Given the description of an element on the screen output the (x, y) to click on. 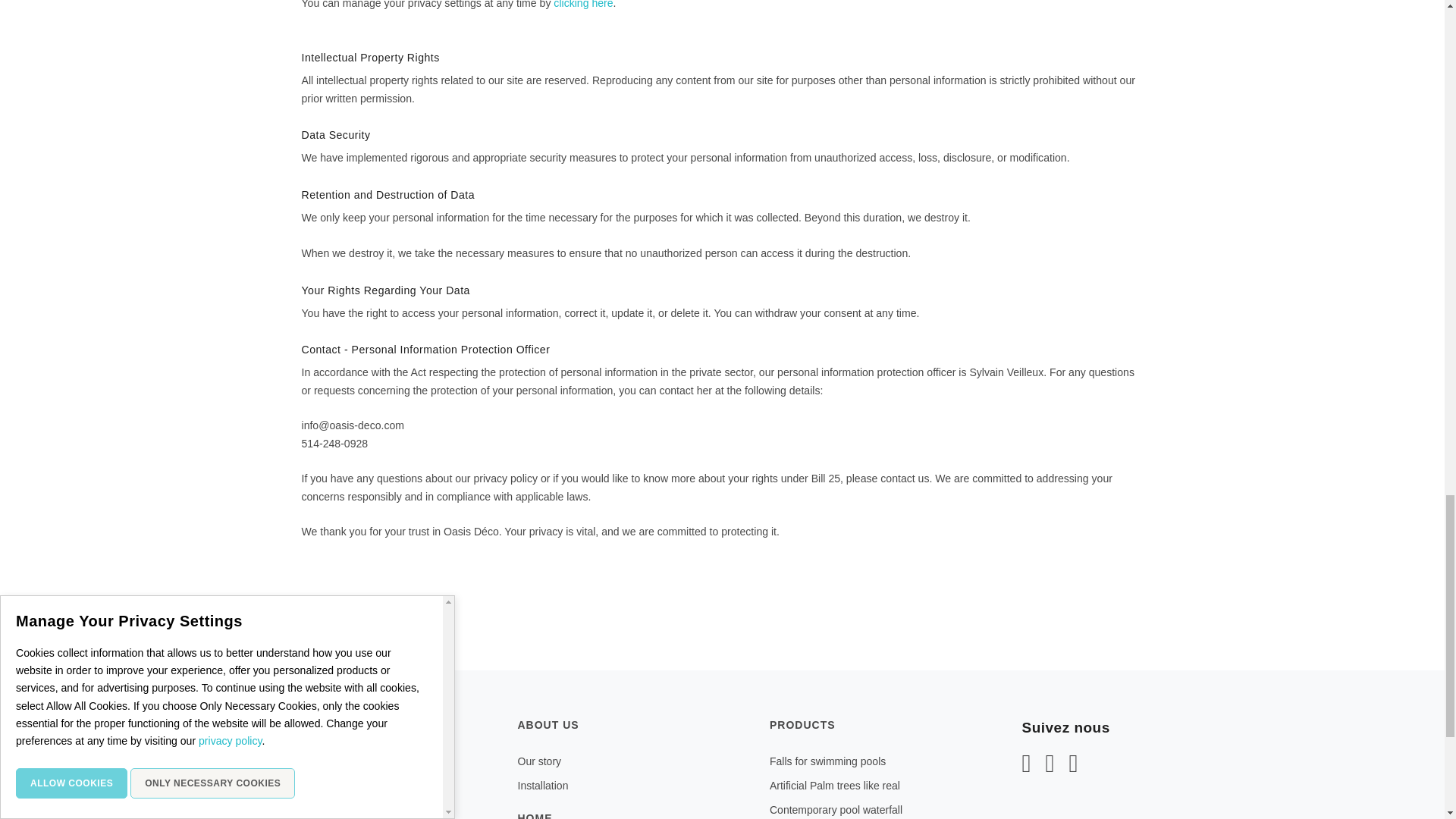
Artificial Palm trees like real (834, 785)
clicking here (582, 4)
Contemporary pool waterfall (836, 809)
Installation (541, 785)
HOME (630, 814)
Falls for swimming pools (827, 761)
Our story (538, 761)
